Given the description of an element on the screen output the (x, y) to click on. 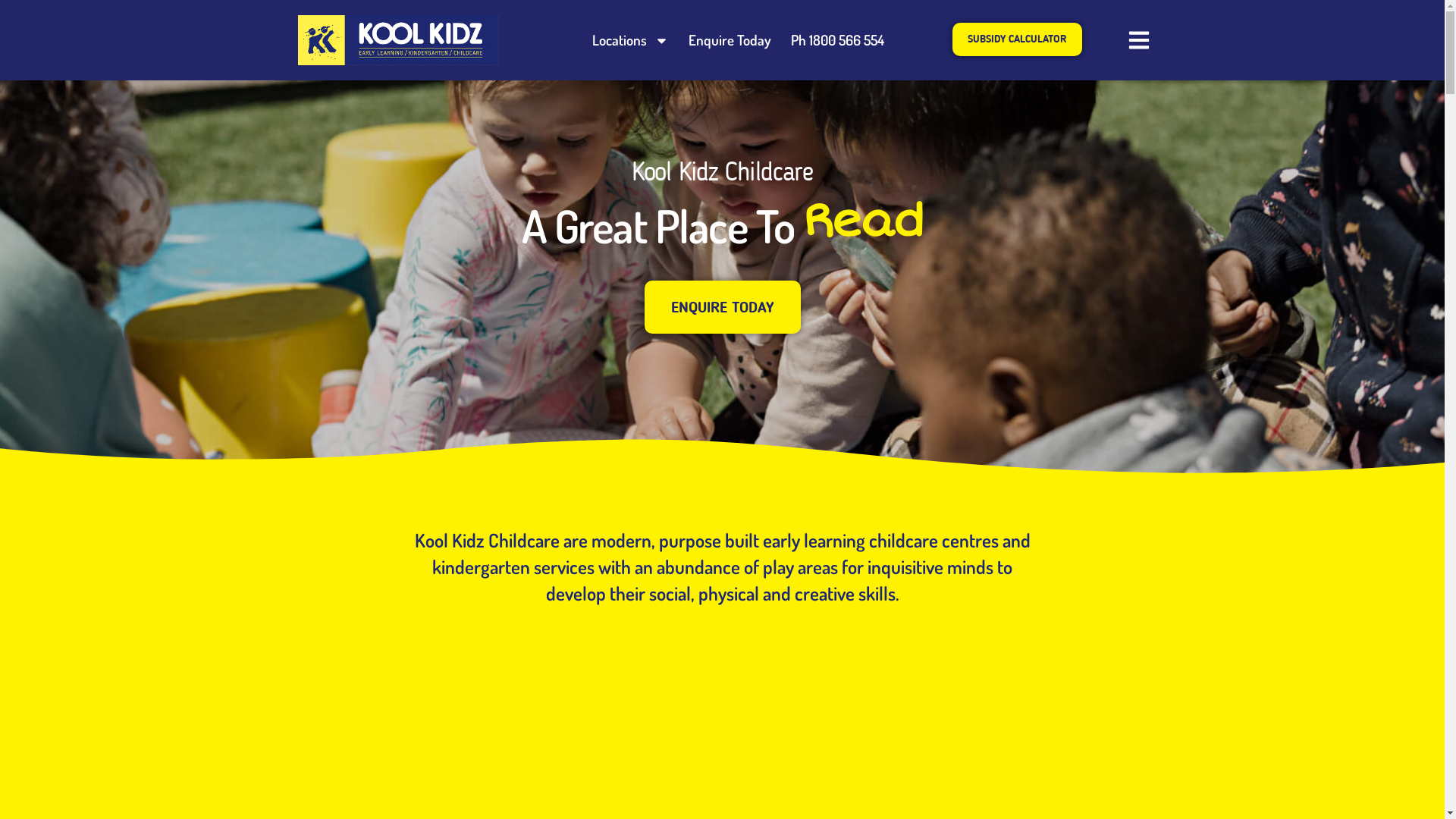
Enquire Today Element type: text (728, 39)
Locations Element type: text (630, 39)
SUBSIDY CALCULATOR Element type: text (1017, 39)
Ph 1800 566 554 Element type: text (837, 39)
ENQUIRE TODAY Element type: text (722, 306)
